Given the description of an element on the screen output the (x, y) to click on. 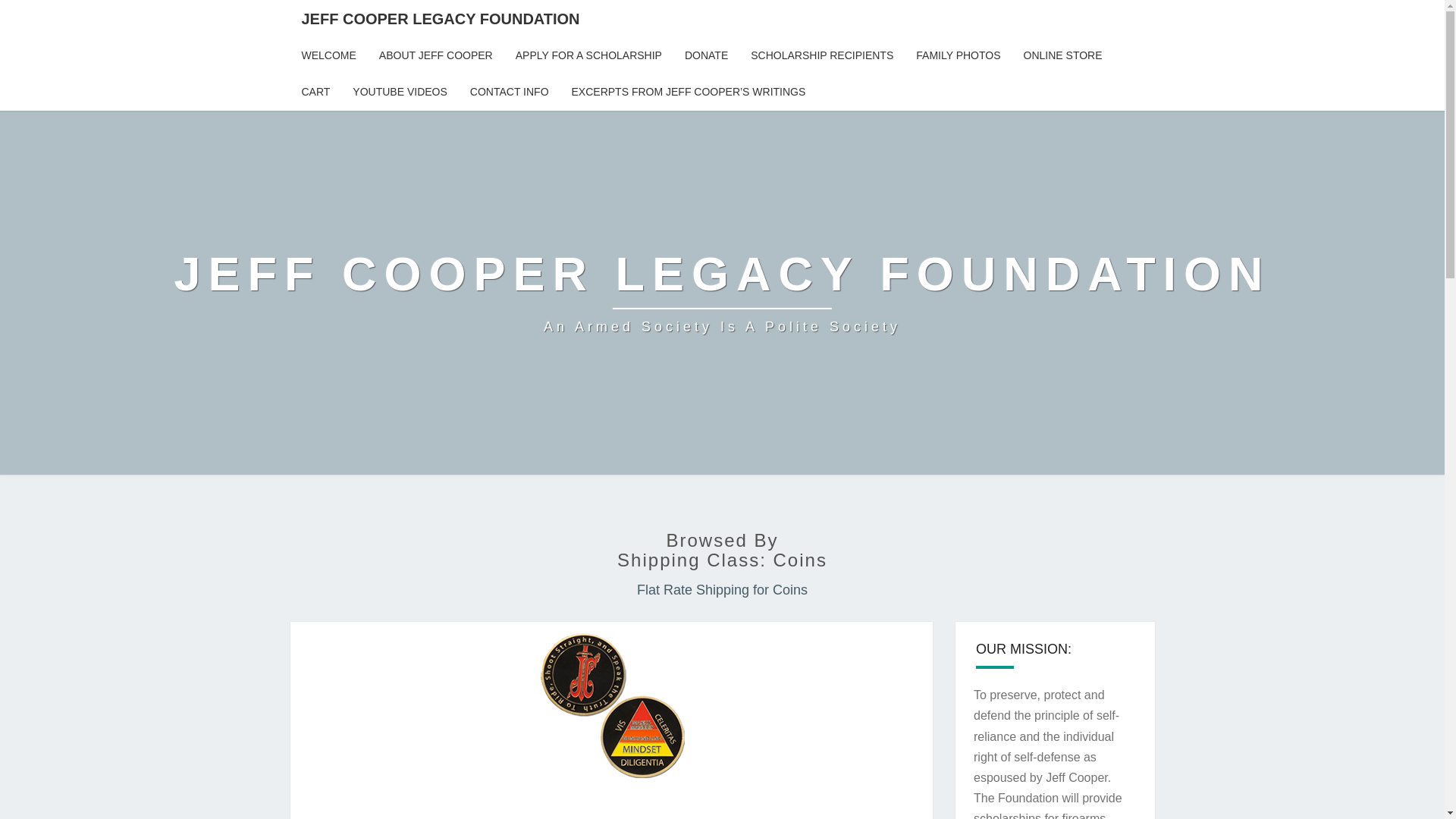
YOUTUBE VIDEOS (399, 92)
WELCOME (327, 55)
ONLINE STORE (1062, 55)
CONTACT INFO (509, 92)
SCHOLARSHIP RECIPIENTS (821, 55)
Jeff Cooper Legacy Foundation (721, 292)
DONATE (705, 55)
APPLY FOR A SCHOLARSHIP (587, 55)
ABOUT JEFF COOPER (435, 55)
CART (314, 92)
JEFF COOPER LEGACY FOUNDATION (440, 18)
FAMILY PHOTOS (957, 55)
